Given the description of an element on the screen output the (x, y) to click on. 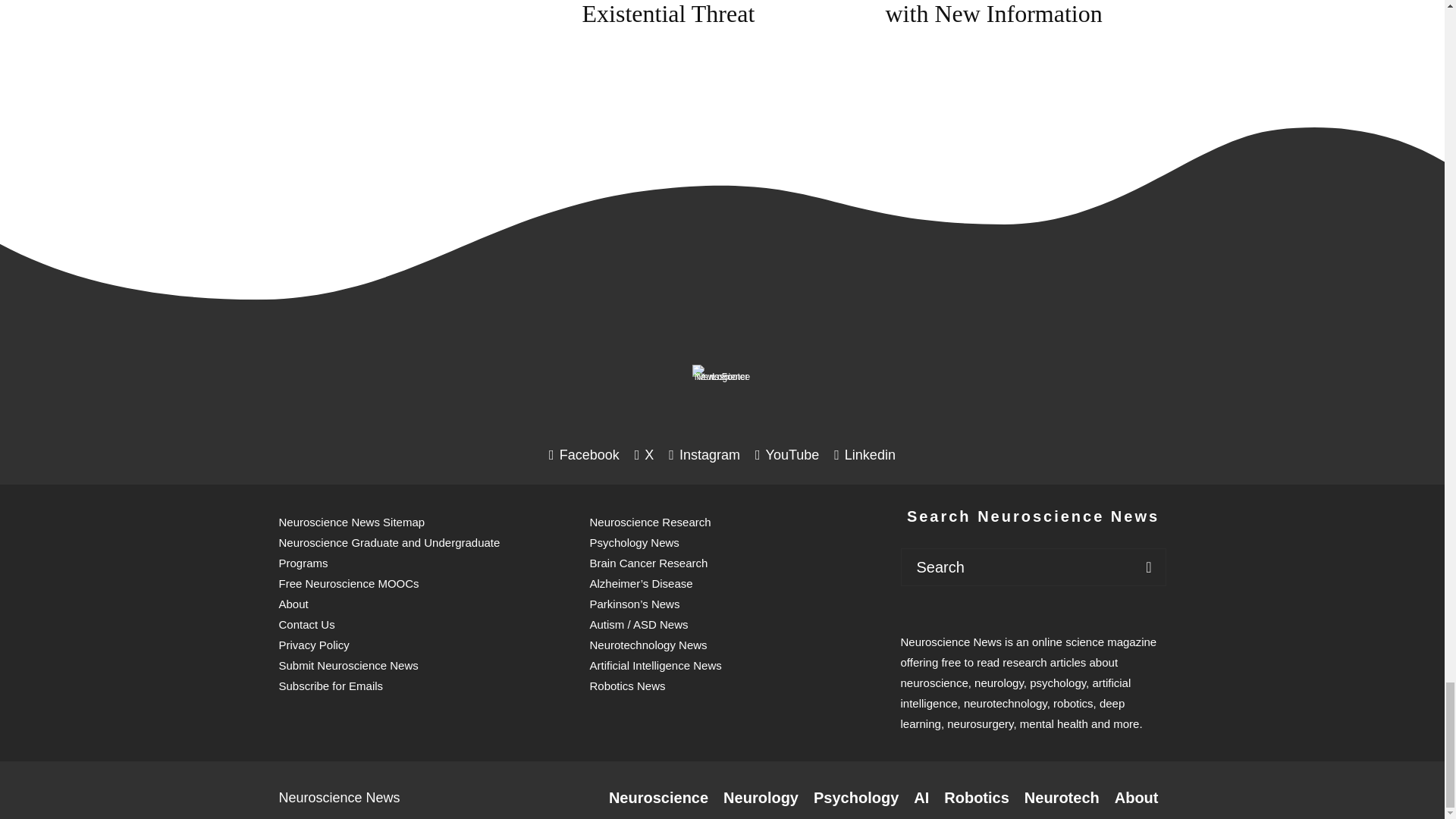
Psychology Research Articles (855, 797)
Neuroscience Research (657, 797)
Neurology Research Articles (760, 797)
